Given the description of an element on the screen output the (x, y) to click on. 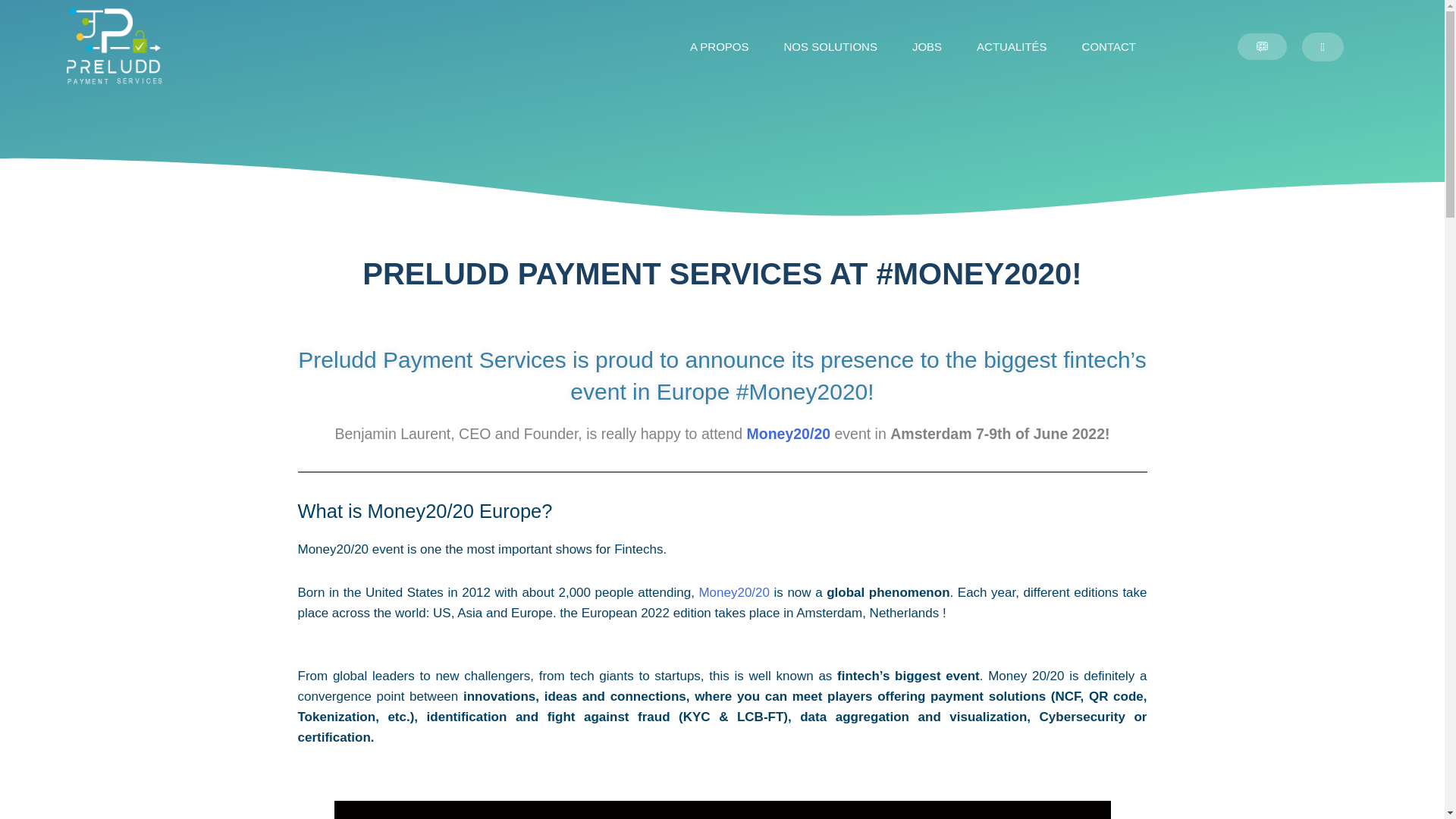
A PROPOS (719, 46)
CONTACT (1109, 46)
NOS SOLUTIONS (830, 46)
